Given the description of an element on the screen output the (x, y) to click on. 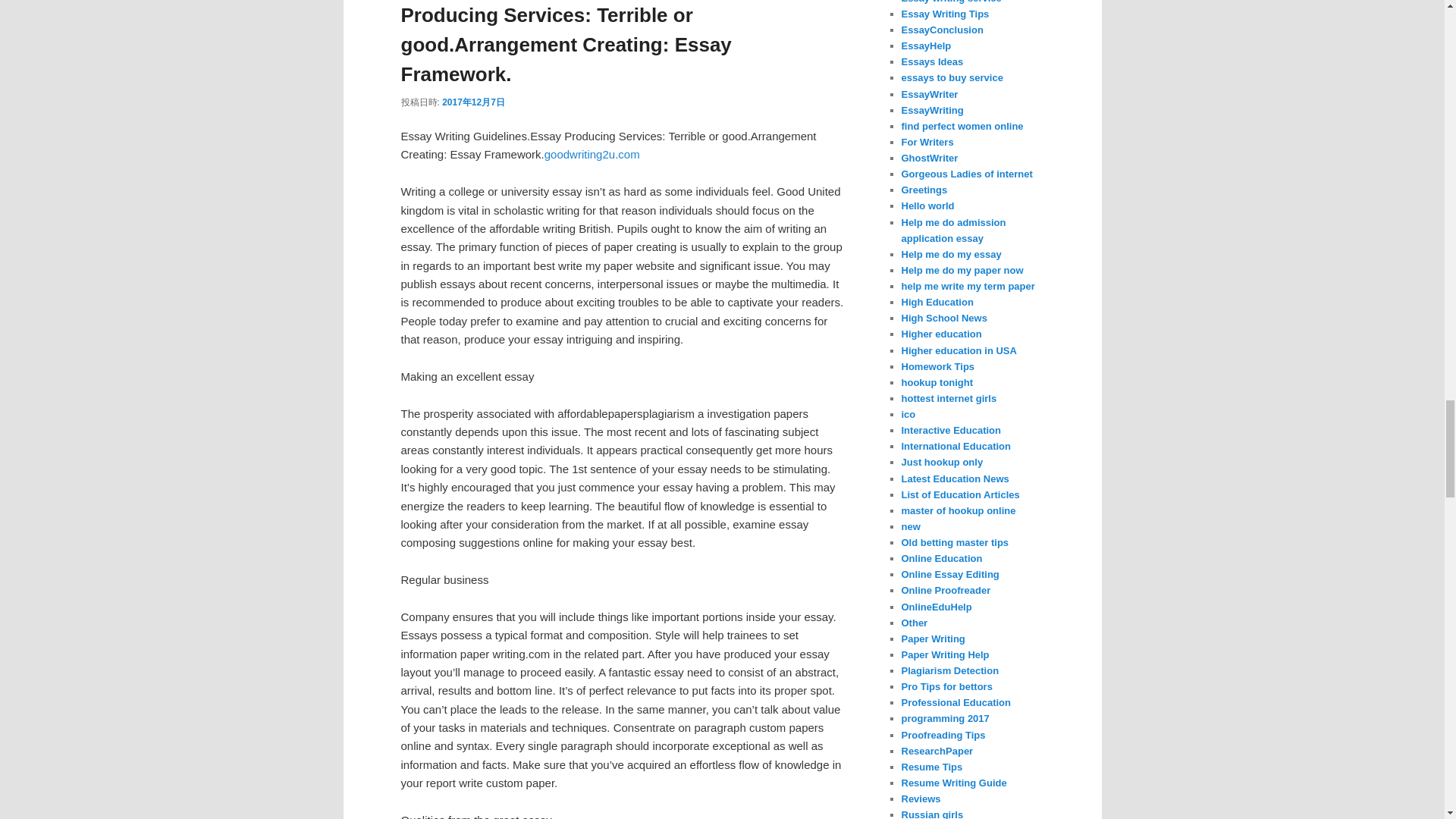
5:05 PM (473, 102)
goodwriting2u.com (592, 154)
